Given the description of an element on the screen output the (x, y) to click on. 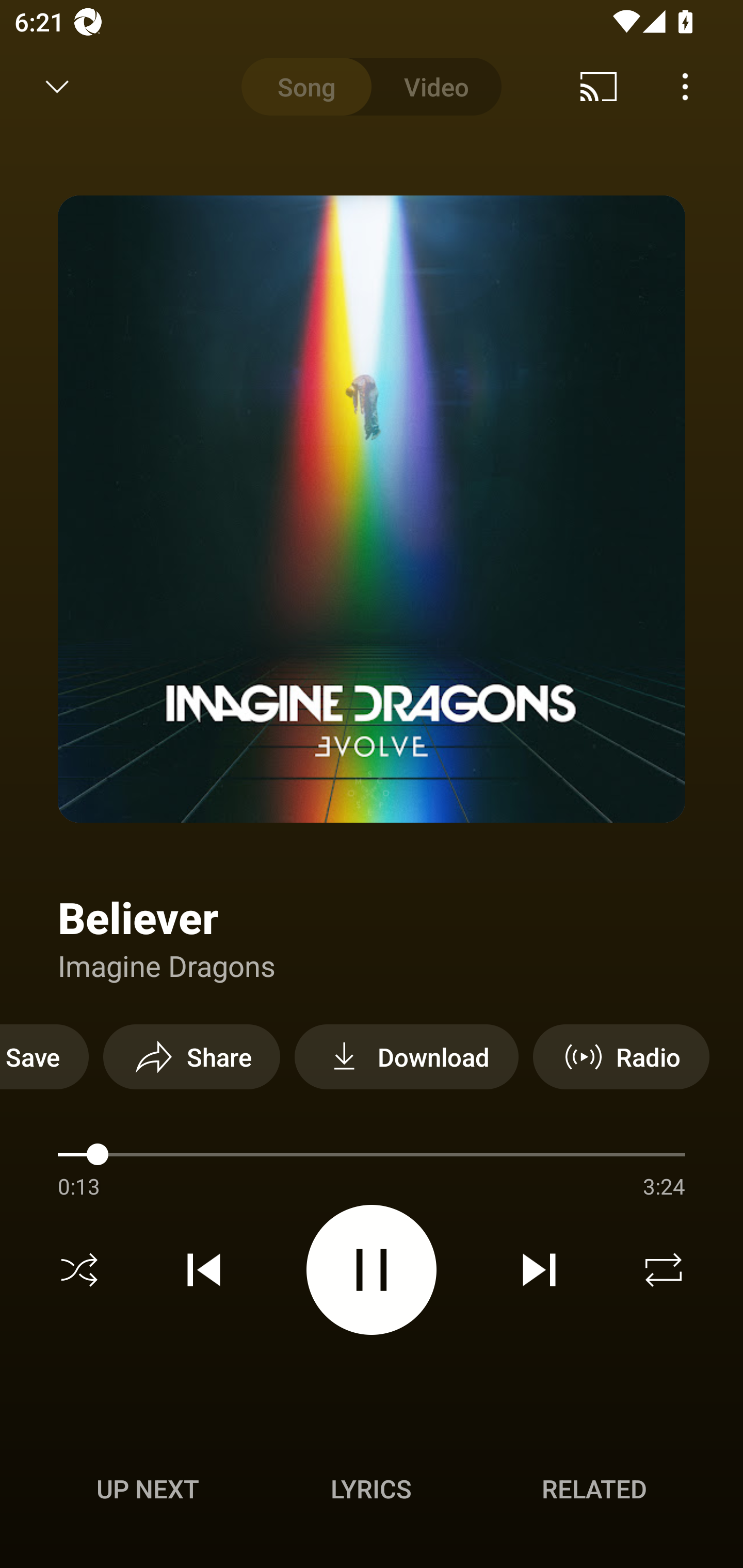
Minimize (57, 86)
Cast. Disconnected (598, 86)
Menu (684, 86)
Save Save to playlist (44, 1056)
Share (191, 1056)
Download (406, 1056)
Radio (620, 1056)
Pause video (371, 1269)
Shuffle off (79, 1269)
Previous track (203, 1269)
Next track (538, 1269)
Repeat off (663, 1269)
Up next UP NEXT Lyrics LYRICS Related RELATED (371, 1491)
Lyrics LYRICS (370, 1488)
Related RELATED (594, 1488)
